Given the description of an element on the screen output the (x, y) to click on. 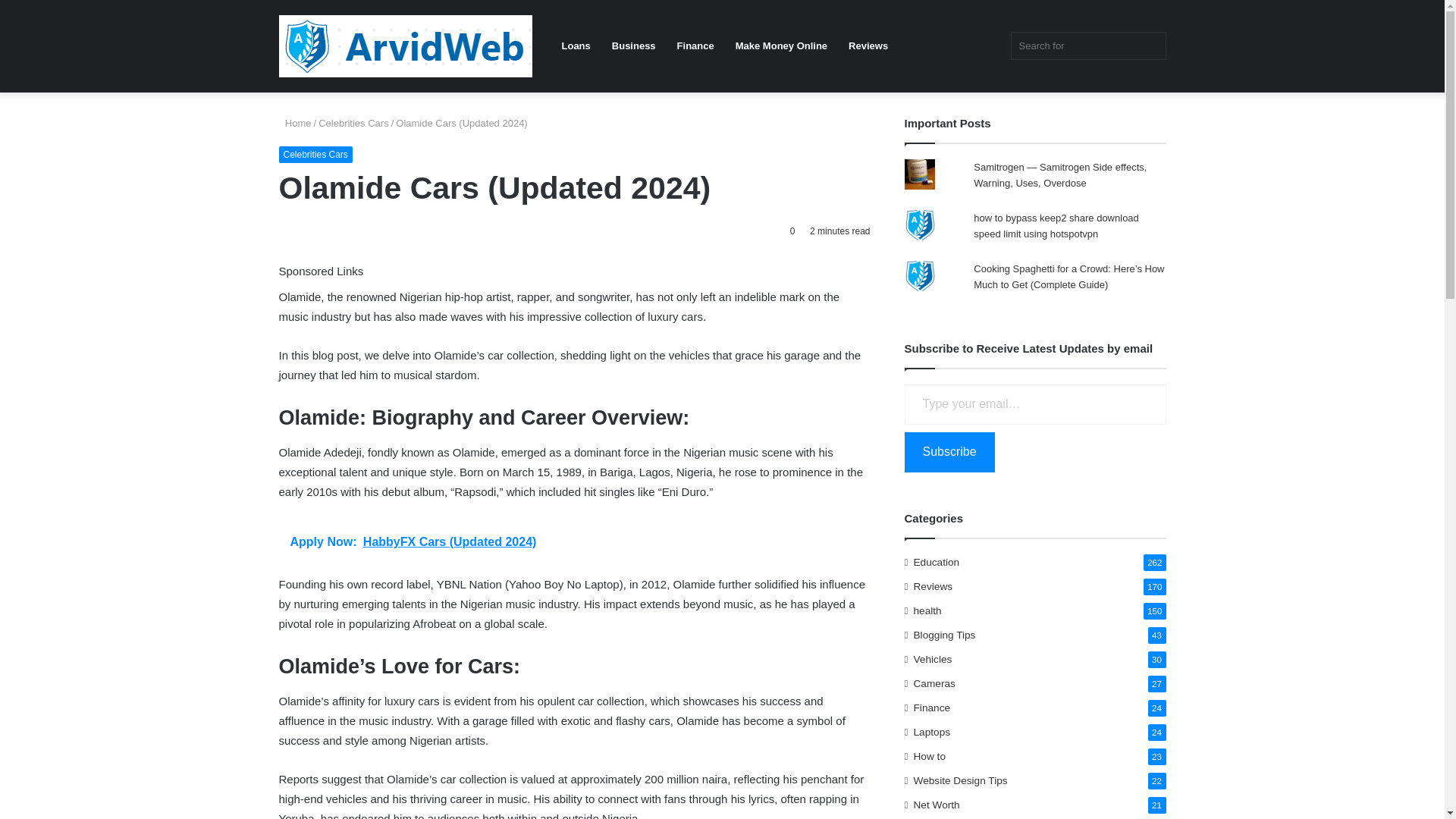
Celebrities Cars (315, 154)
Celebrities Cars (353, 122)
Home (295, 122)
ArvidWeb (405, 45)
Search for (1088, 45)
Make Money Online (781, 46)
